Given the description of an element on the screen output the (x, y) to click on. 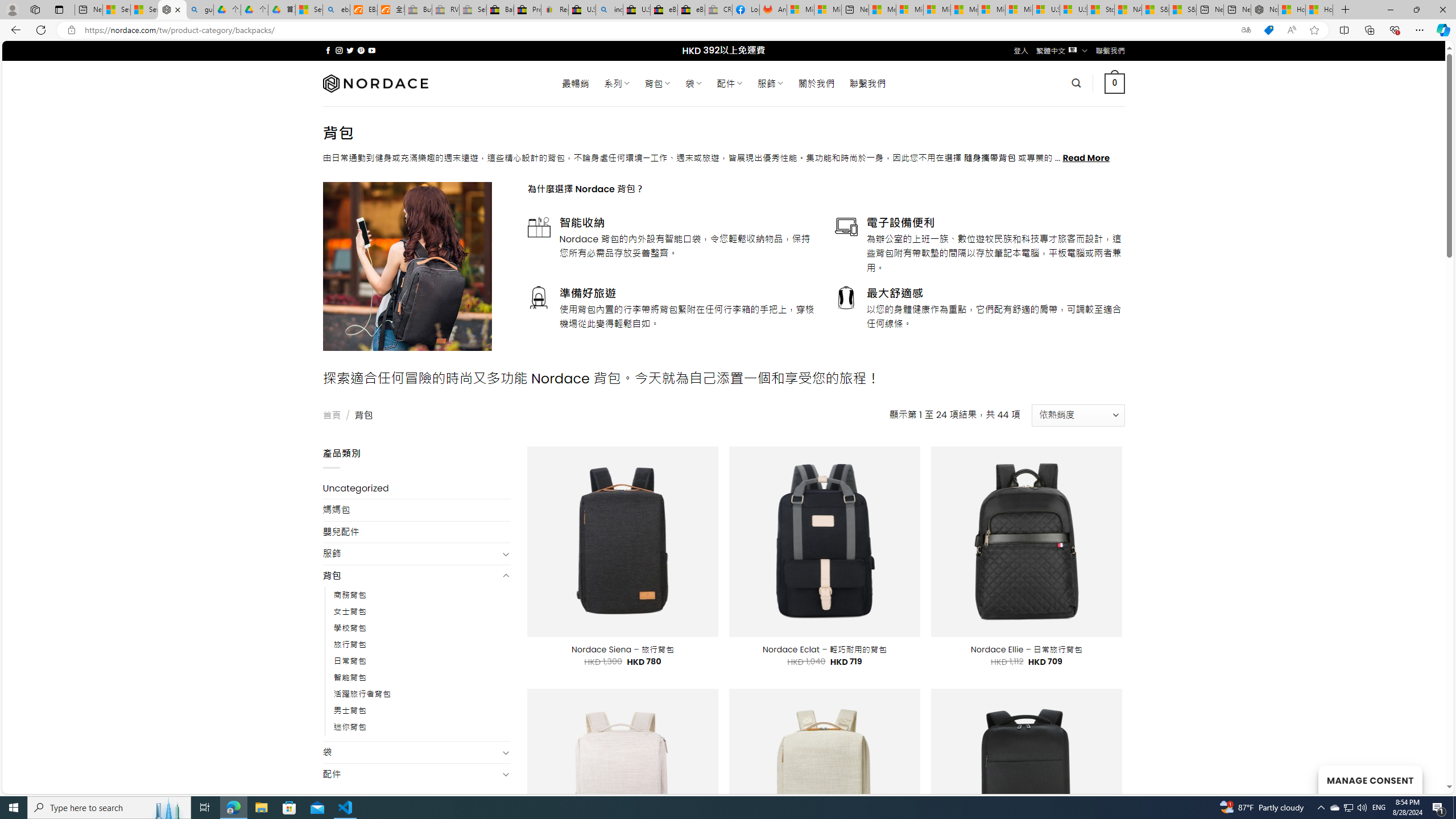
including - Search (609, 9)
Microsoft account | Privacy (909, 9)
Register: Create a personal eBay account (554, 9)
Log into Facebook (746, 9)
